Given the description of an element on the screen output the (x, y) to click on. 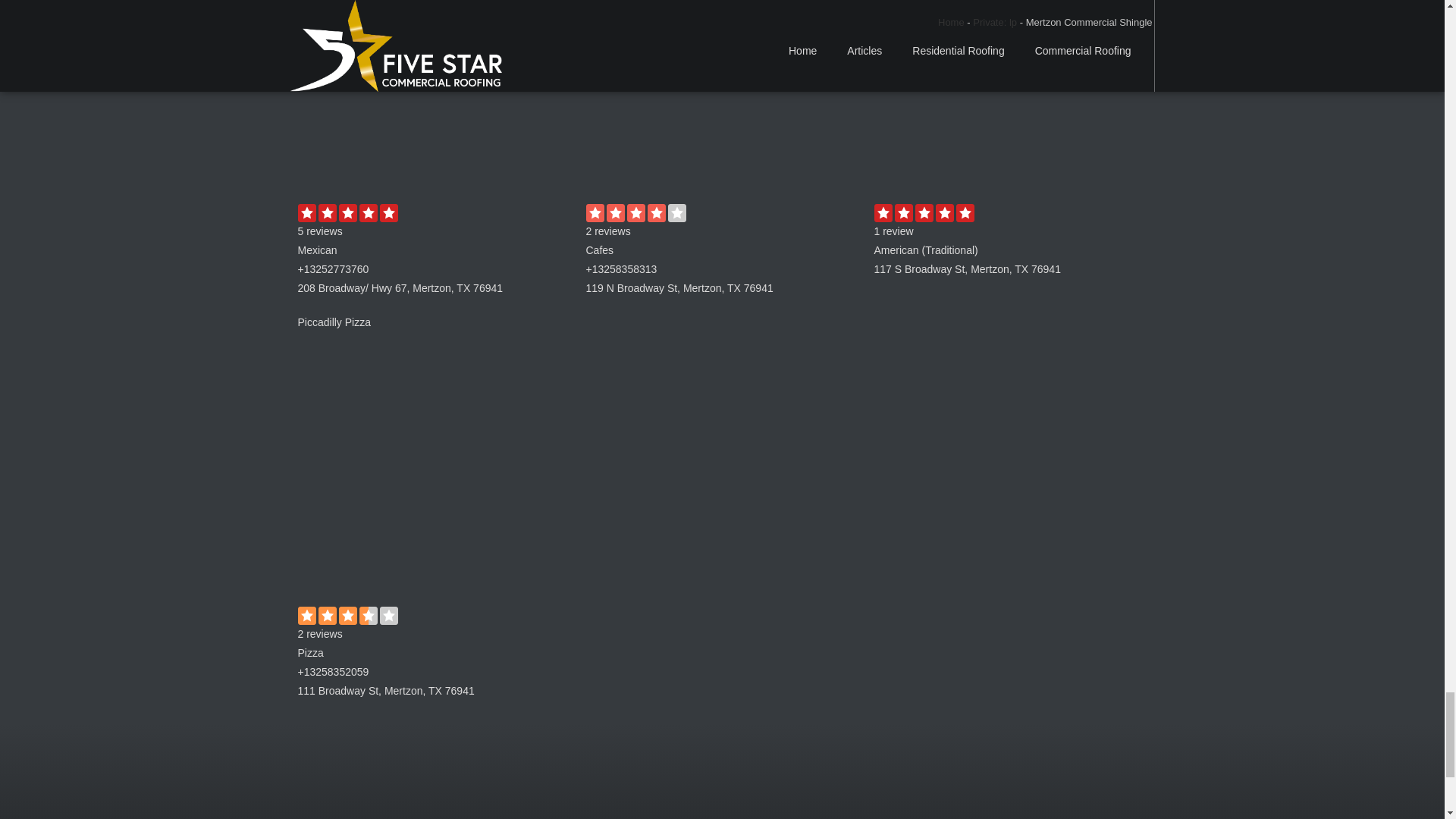
Mertzon Commercial Shingle Roofs 15 (433, 469)
Mertzon Commercial Shingle Roofs 9 (433, 101)
Mertzon Commercial Shingle Roofs 13 (1010, 101)
Mertzon Commercial Shingle Roofs 11 (722, 101)
